Given the description of an element on the screen output the (x, y) to click on. 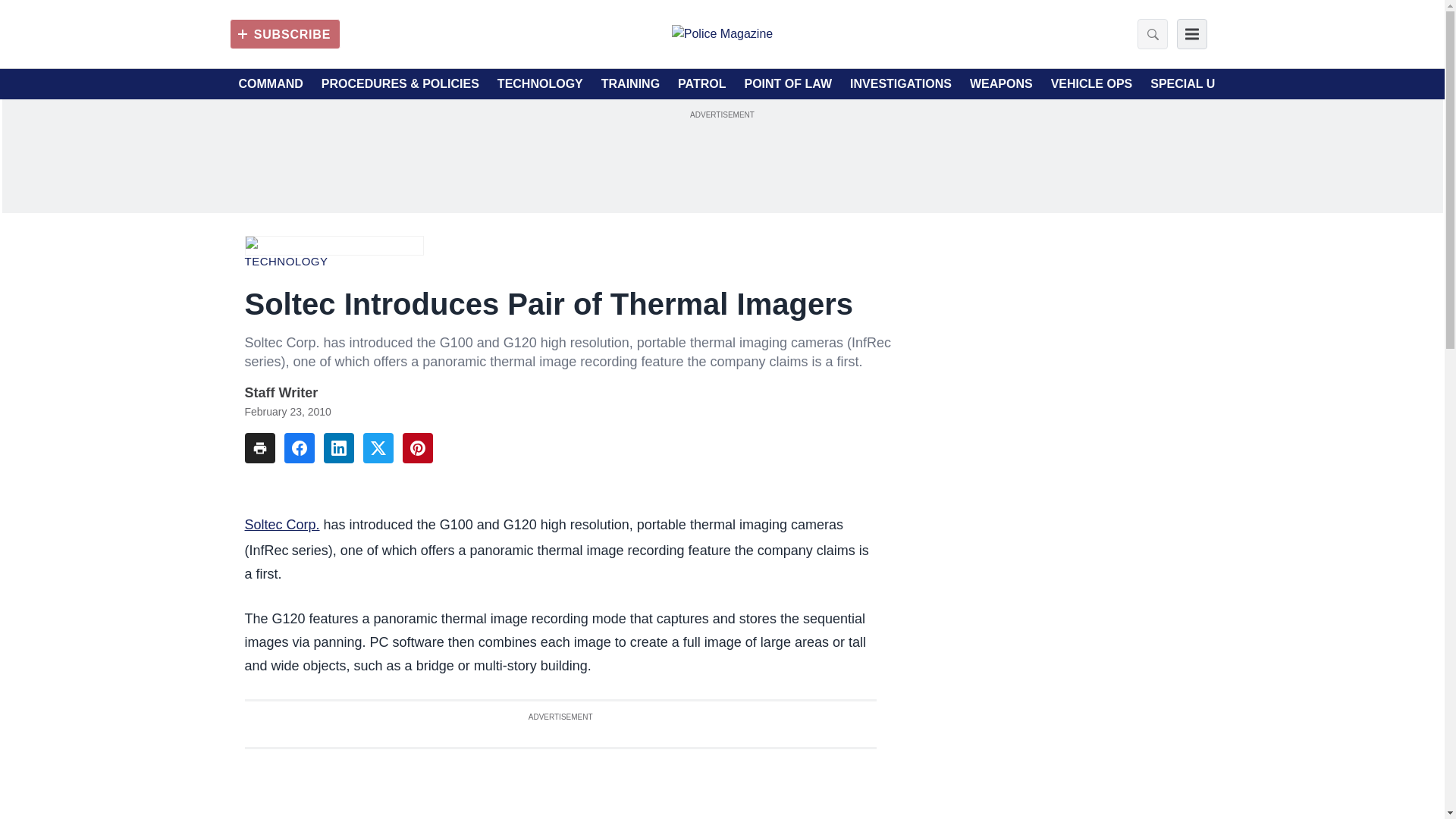
DIRECTORY (1296, 84)
INVESTIGATIONS (901, 84)
Share To facebook (298, 448)
WEAPONS (1000, 84)
POINT OF LAW (787, 84)
VEHICLE OPS (1091, 84)
Share To pinterest (416, 448)
Technology (285, 260)
Share To linkedin (338, 448)
COMMAND (270, 84)
